Given the description of an element on the screen output the (x, y) to click on. 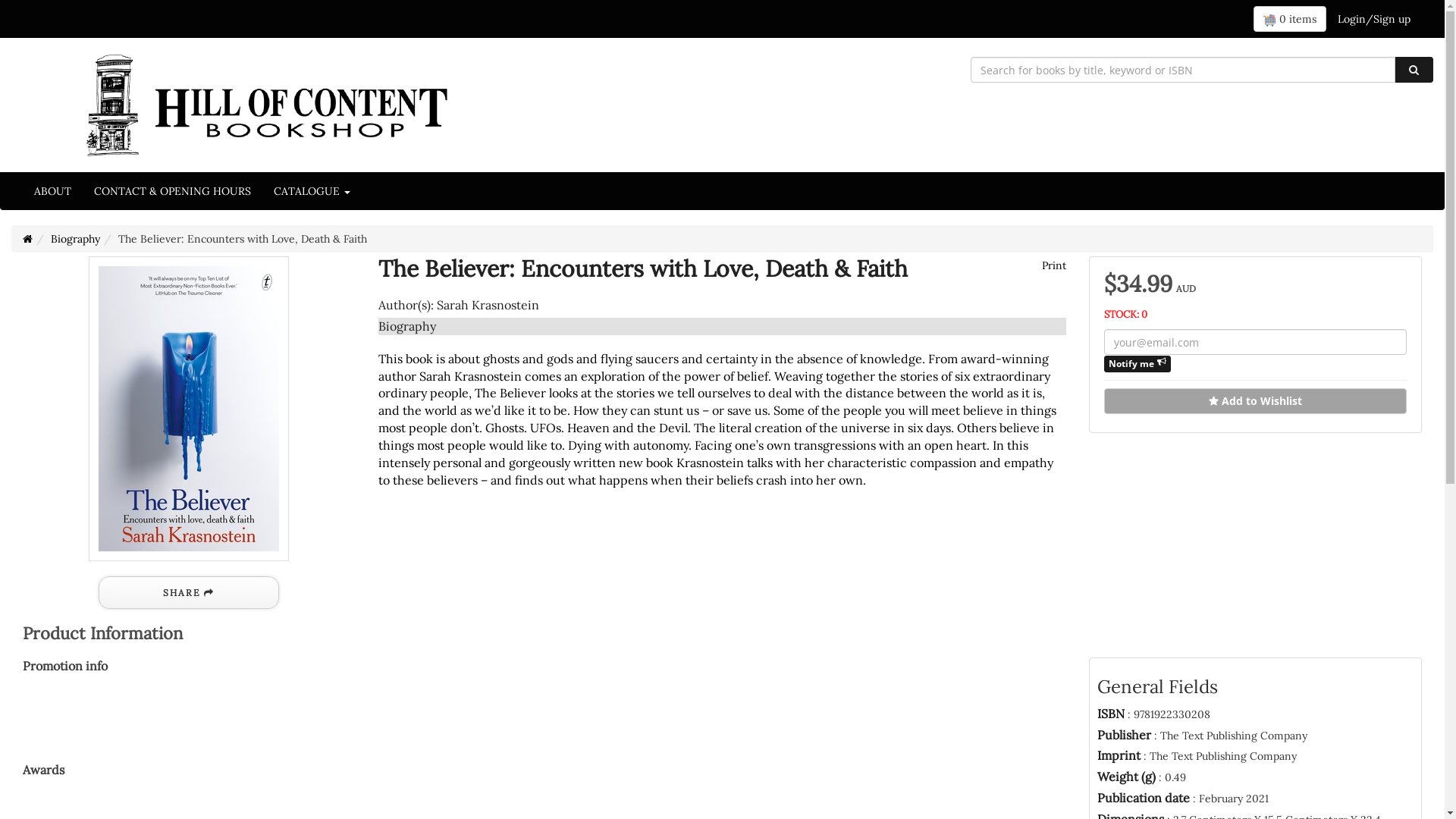
0 items Element type: text (1289, 18)
Biography Element type: text (407, 325)
The Believer: Encounters with Love, Death & Faith Element type: hover (188, 408)
CATALOGUE  Element type: text (311, 191)
SHARE Element type: text (188, 592)
Biography Element type: text (75, 238)
Login/Sign up Element type: text (1373, 18)
Sarah Krasnostein Element type: text (487, 304)
0 items Element type: text (1289, 18)
Add to Wishlist Element type: text (1255, 401)
Notify me Element type: text (1137, 363)
ABOUT Element type: text (52, 191)
 Print Element type: text (1052, 265)
CONTACT & OPENING HOURS Element type: text (172, 191)
